Given the description of an element on the screen output the (x, y) to click on. 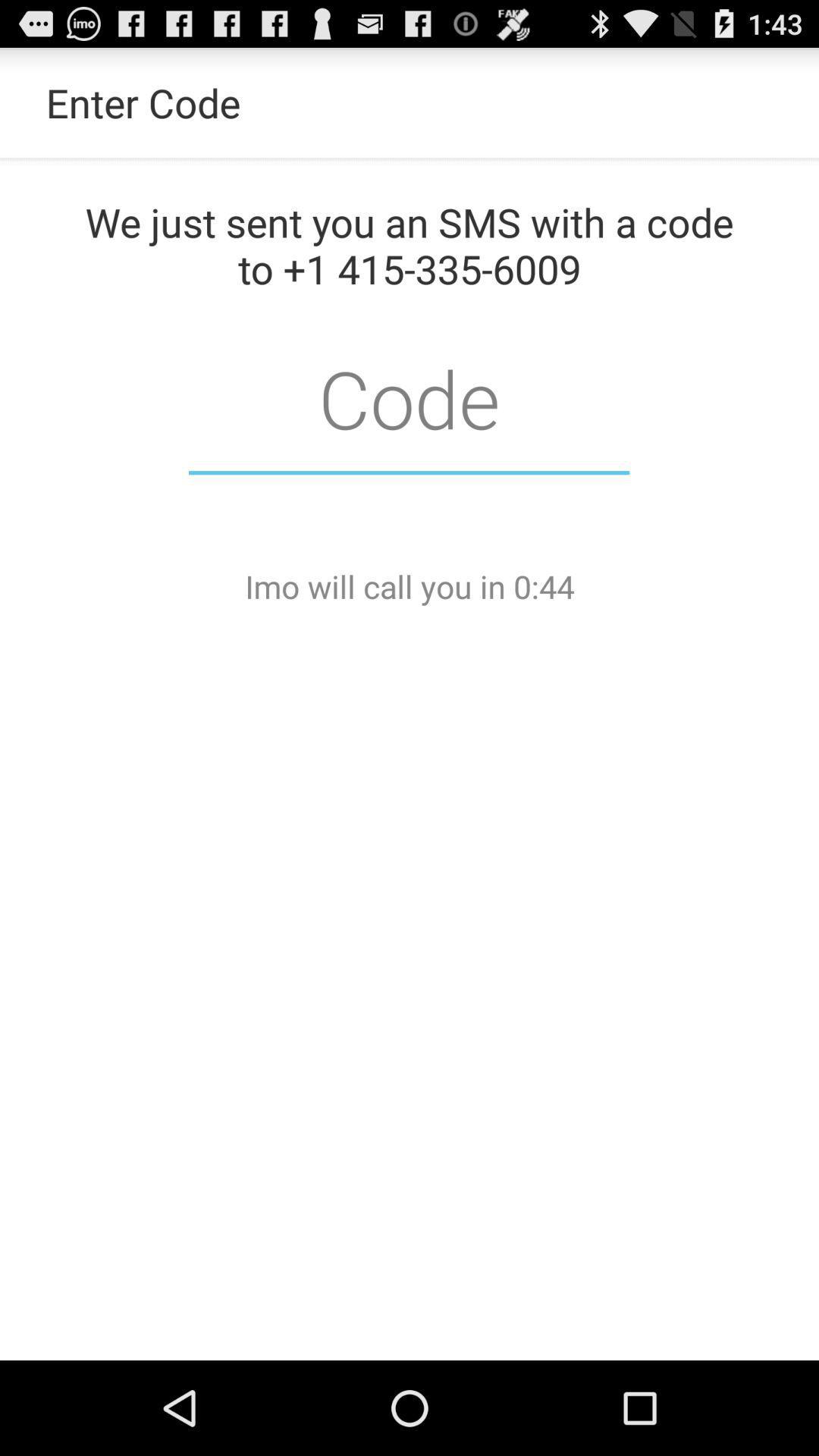
enter code (408, 398)
